Given the description of an element on the screen output the (x, y) to click on. 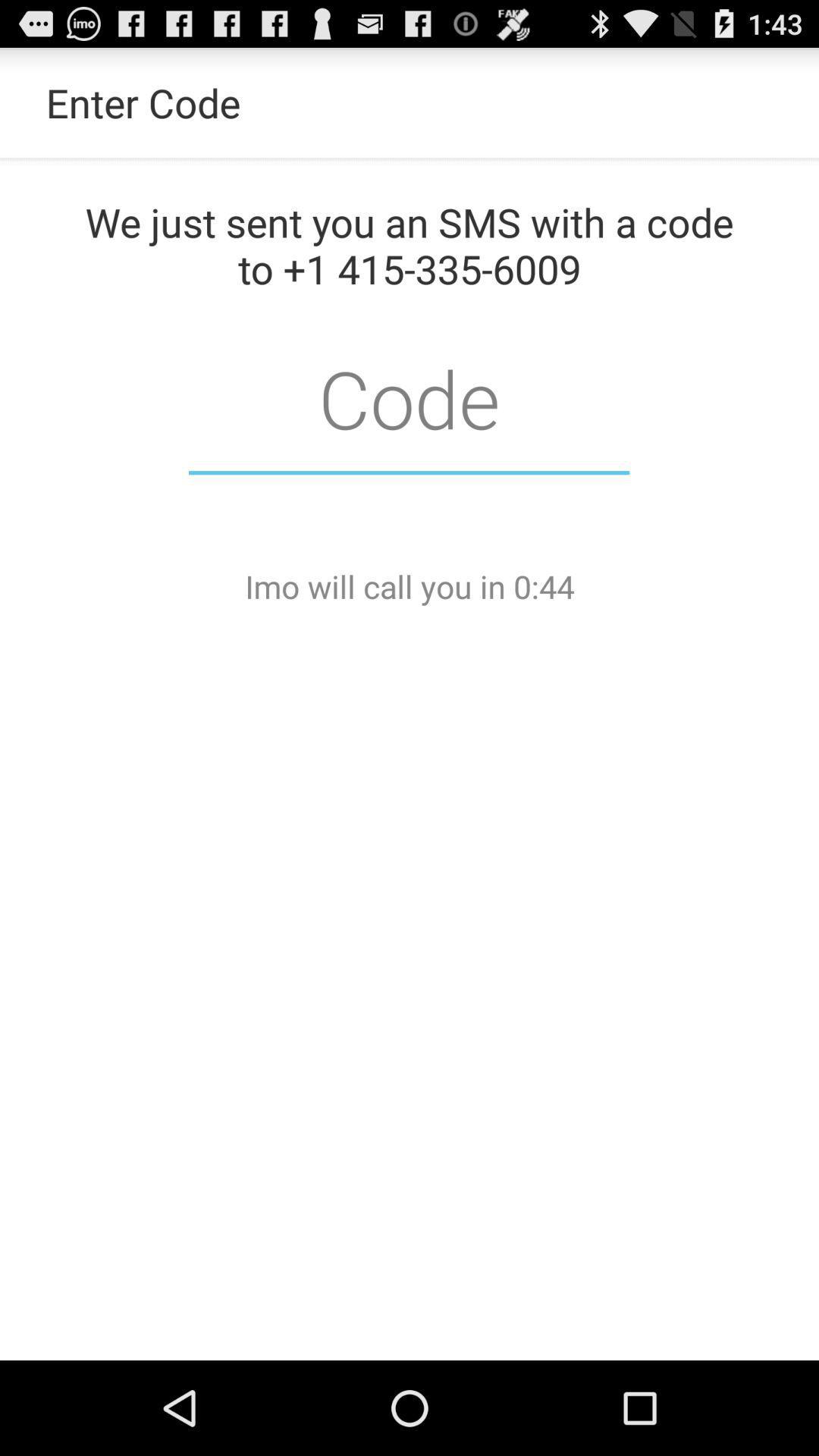
enter code (408, 398)
